Given the description of an element on the screen output the (x, y) to click on. 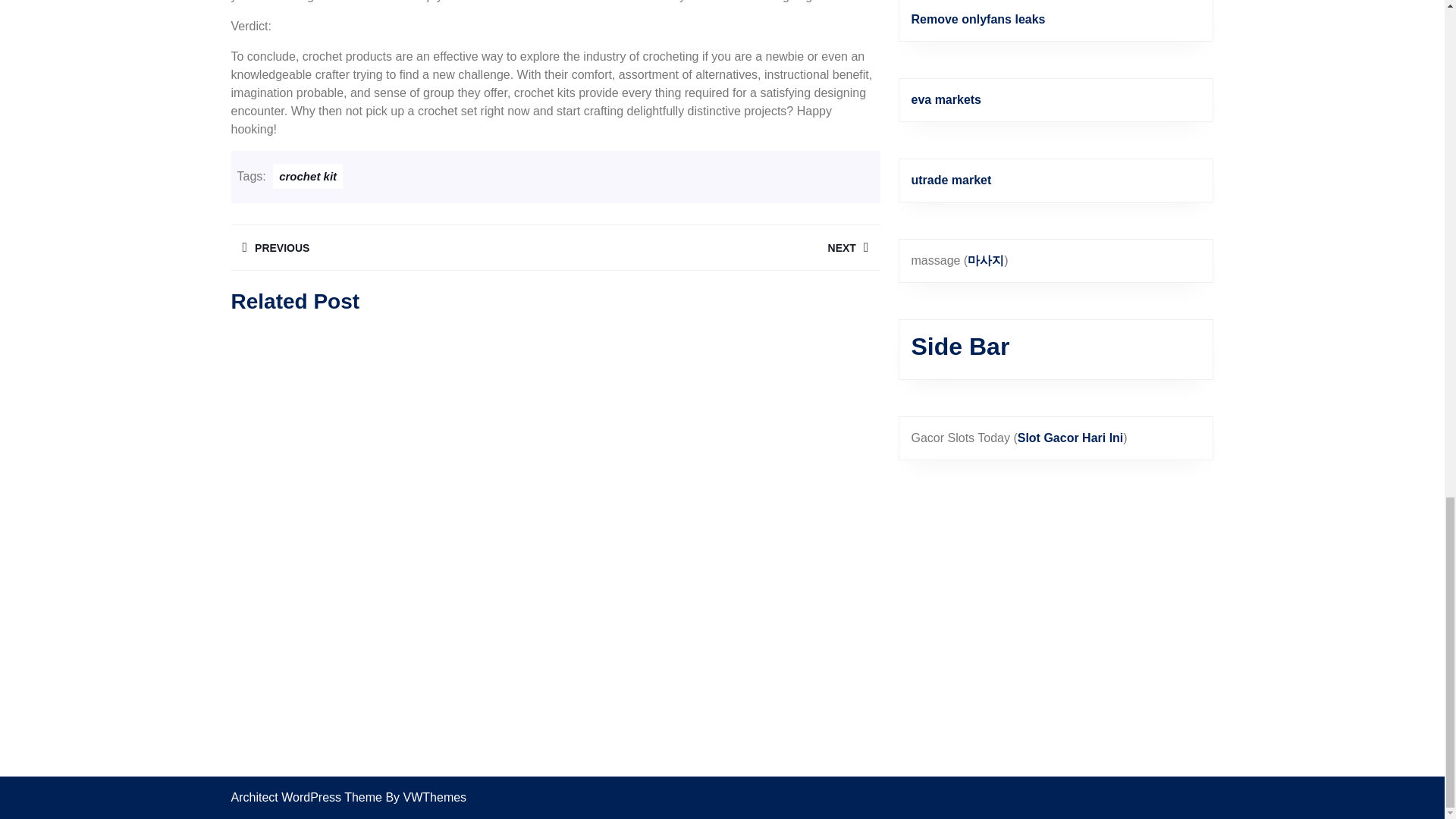
crochet kit (392, 247)
